Given the description of an element on the screen output the (x, y) to click on. 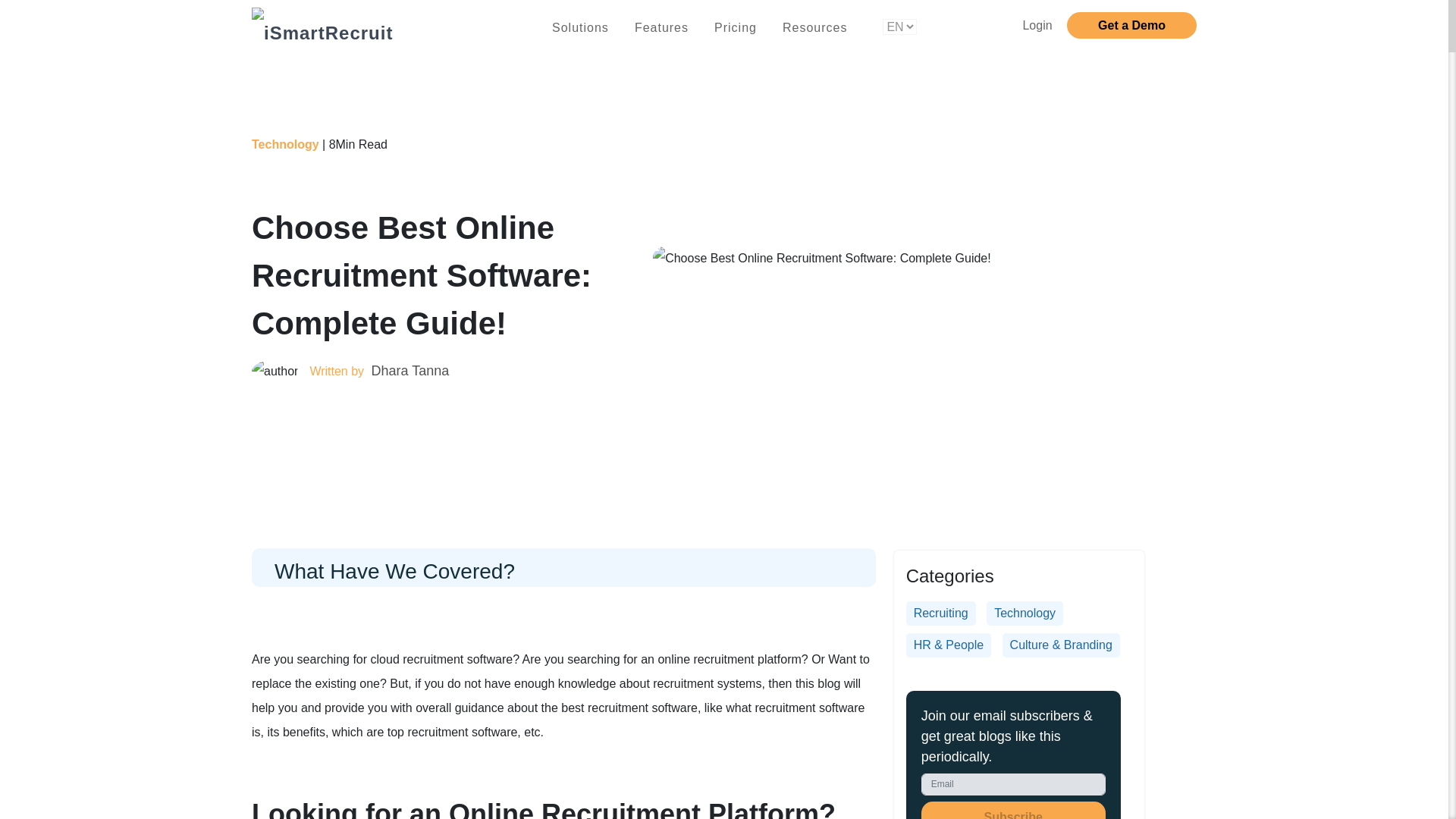
Choose Best Online Recruitment Software: Complete Guide! (821, 258)
Posts by Dhara Tanna (408, 370)
Resources (814, 29)
Pricing (735, 29)
Subscribe (1013, 810)
Get a Demo (1131, 25)
Login (1036, 24)
login - iSmartRecruit (1036, 24)
Features (661, 29)
Dhara Tanna (408, 370)
Technology (284, 144)
Solutions (580, 29)
